Given the description of an element on the screen output the (x, y) to click on. 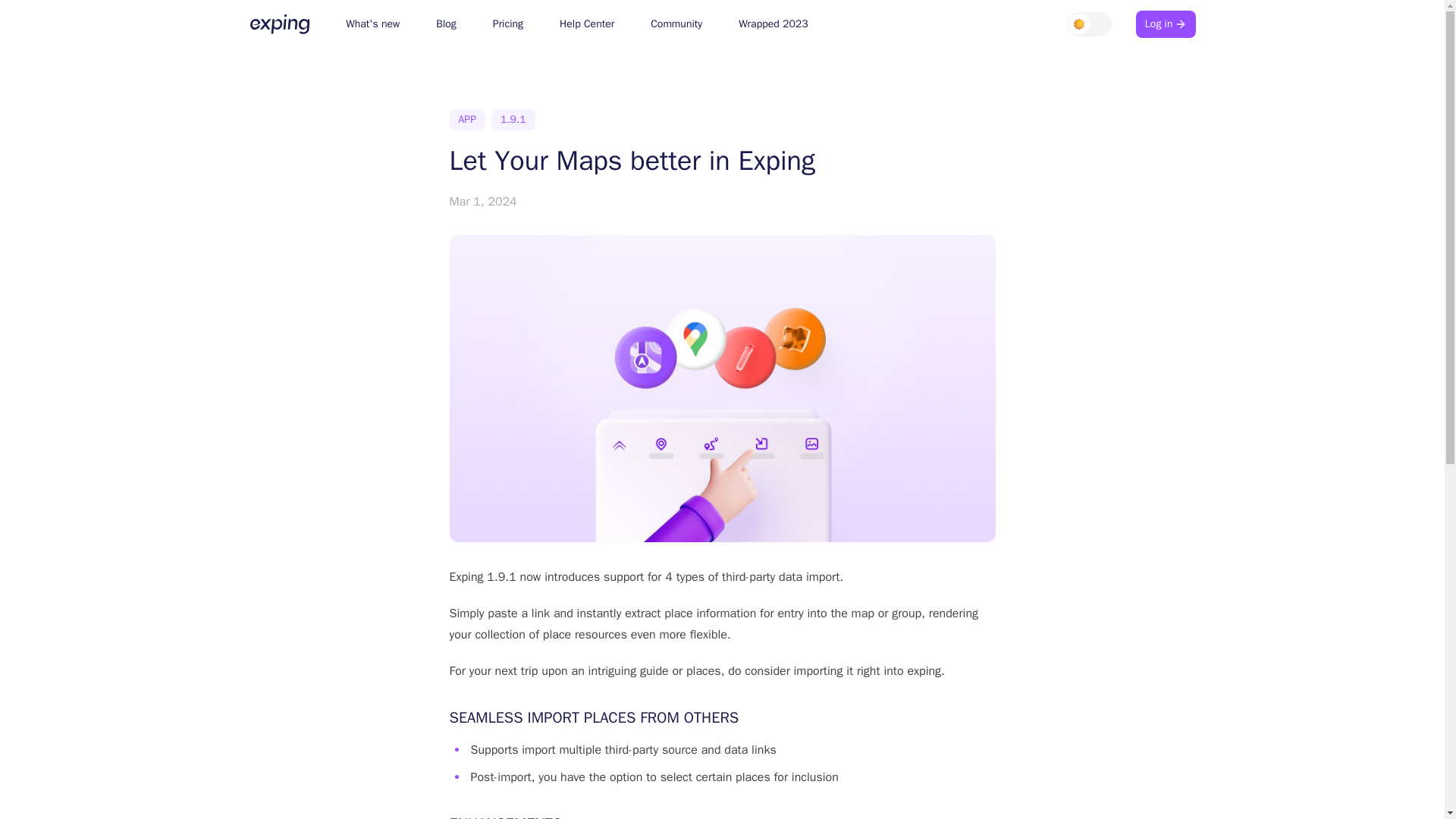
Community (675, 24)
What's new (372, 24)
Pricing (507, 24)
Blog (446, 24)
Log in (1165, 23)
Help Center (586, 24)
Toggle theme (1089, 24)
Wrapped 2023 (773, 24)
